Given the description of an element on the screen output the (x, y) to click on. 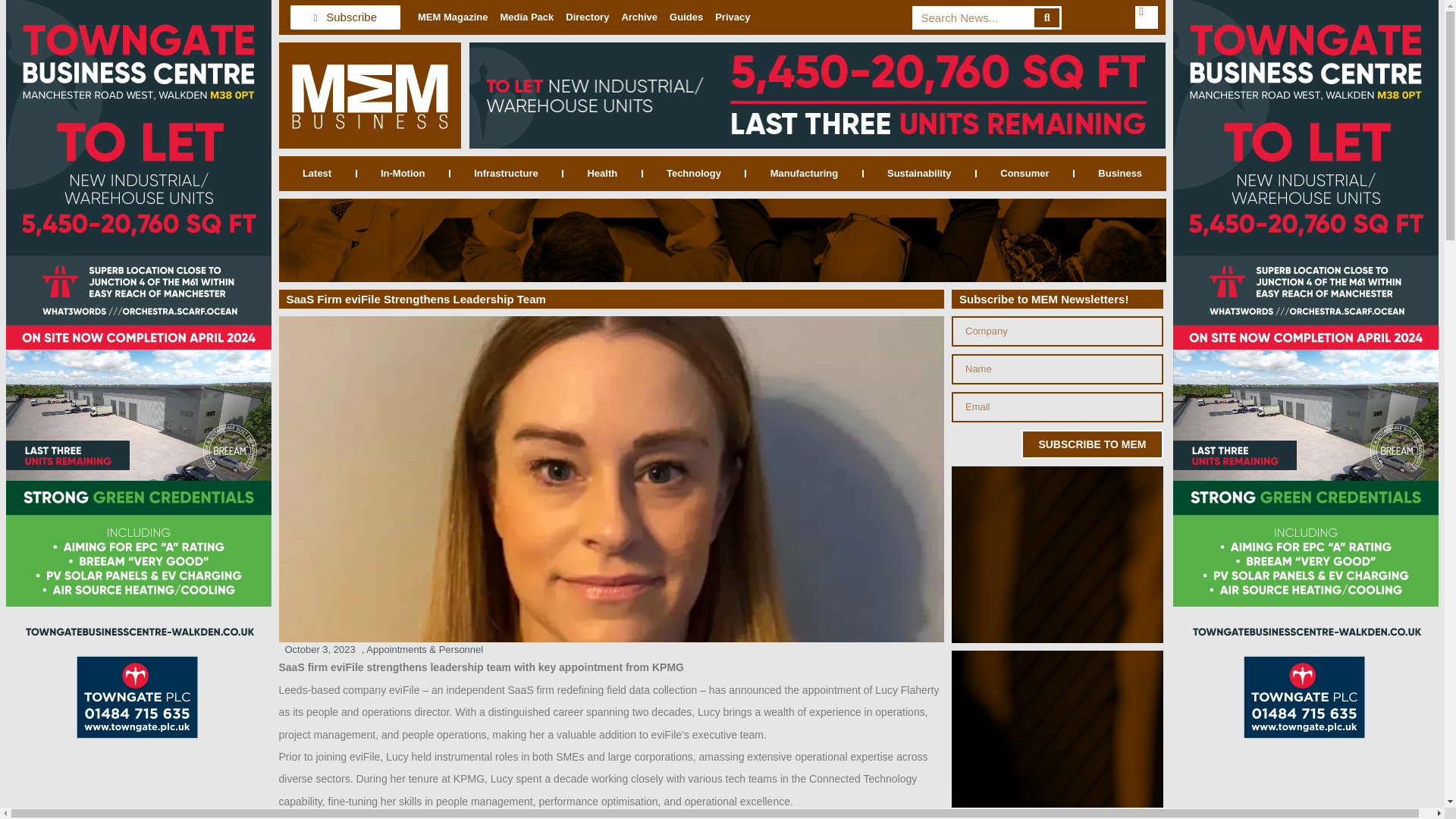
Subscribe (344, 17)
Guides (686, 17)
Latest (317, 173)
Directory (586, 17)
MEM Magazine (452, 17)
Archive (638, 17)
In-Motion (402, 173)
Media Pack (526, 17)
Privacy (732, 17)
